Given the description of an element on the screen output the (x, y) to click on. 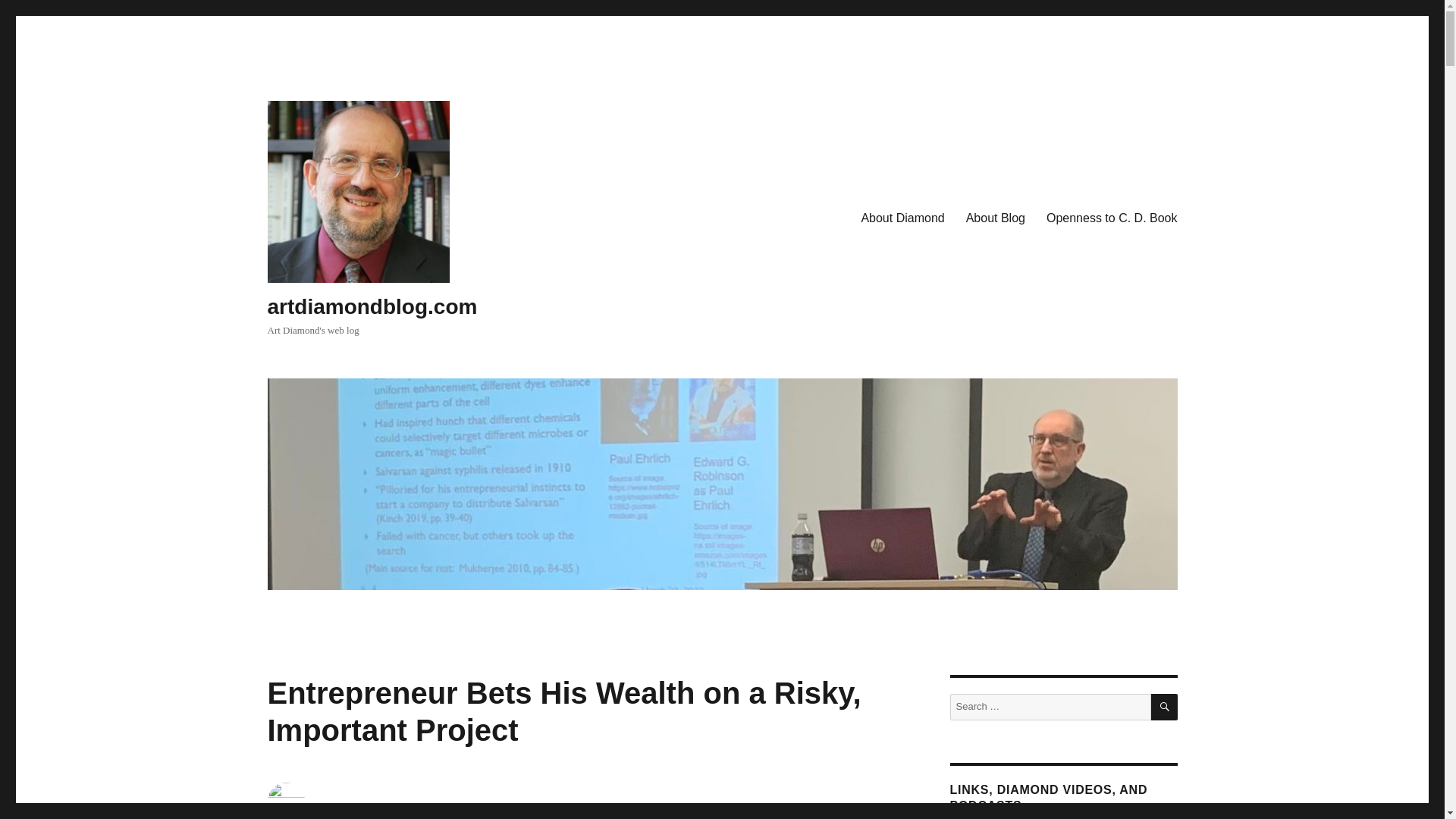
artdiamondblog.com (371, 306)
Openness to C. D. Book (1111, 218)
About Blog (995, 218)
About Diamond (902, 218)
SEARCH (1164, 706)
